Given the description of an element on the screen output the (x, y) to click on. 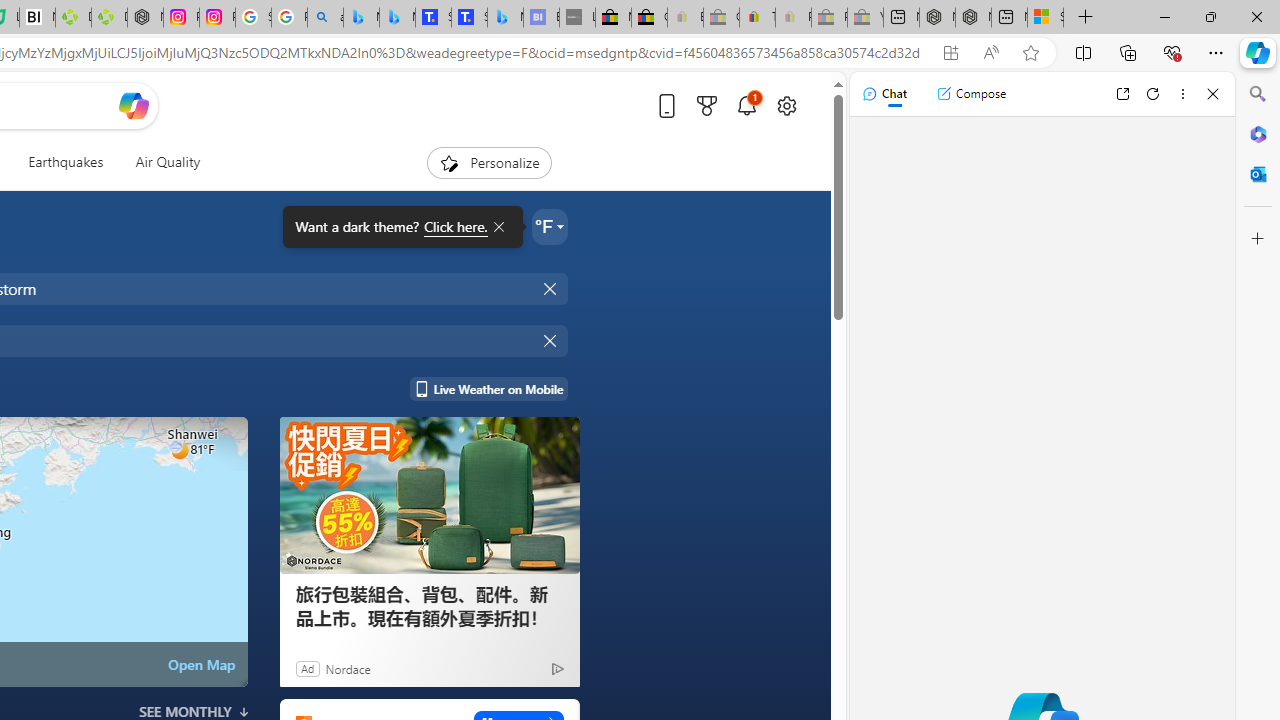
Nordace - Nordace Edin Collection (145, 17)
Weather settings Want a dark theme?Click here. (549, 226)
Press Room - eBay Inc. - Sleeping (829, 17)
Earthquakes (65, 162)
Safety in Our Products - Google Safety Center (253, 17)
